Given the description of an element on the screen output the (x, y) to click on. 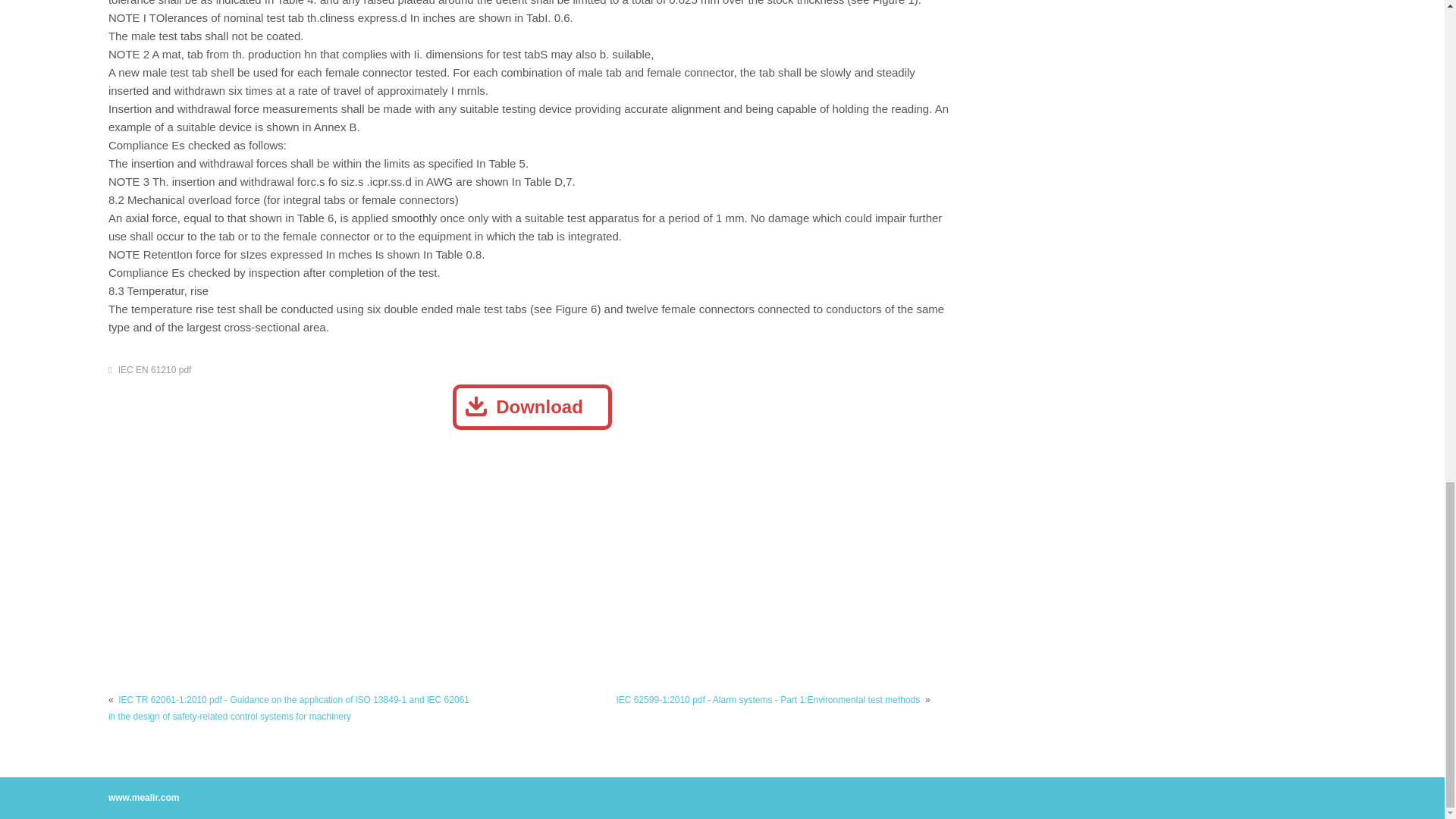
Download (531, 406)
IEC EN 61210 pdf (154, 369)
